Given the description of an element on the screen output the (x, y) to click on. 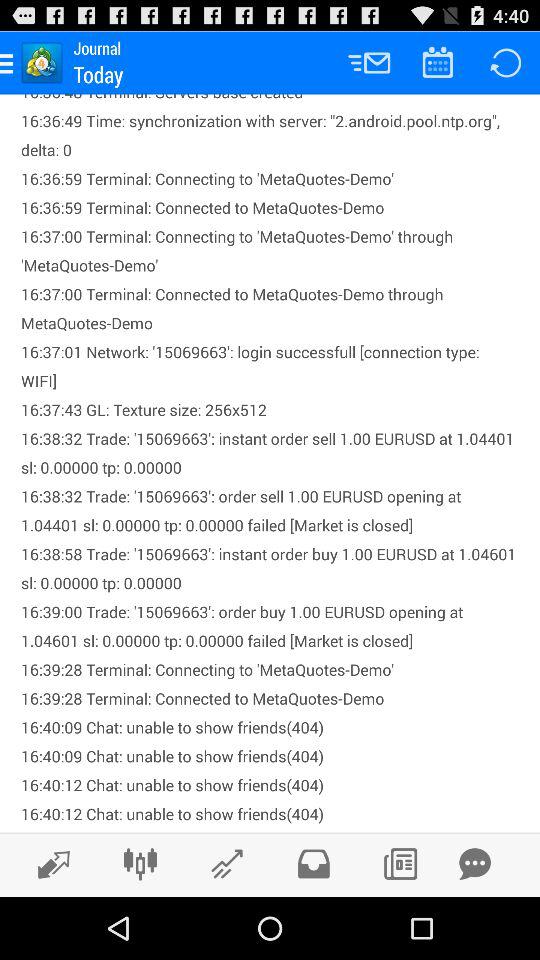
press the 16 36 48 item (270, 463)
